Given the description of an element on the screen output the (x, y) to click on. 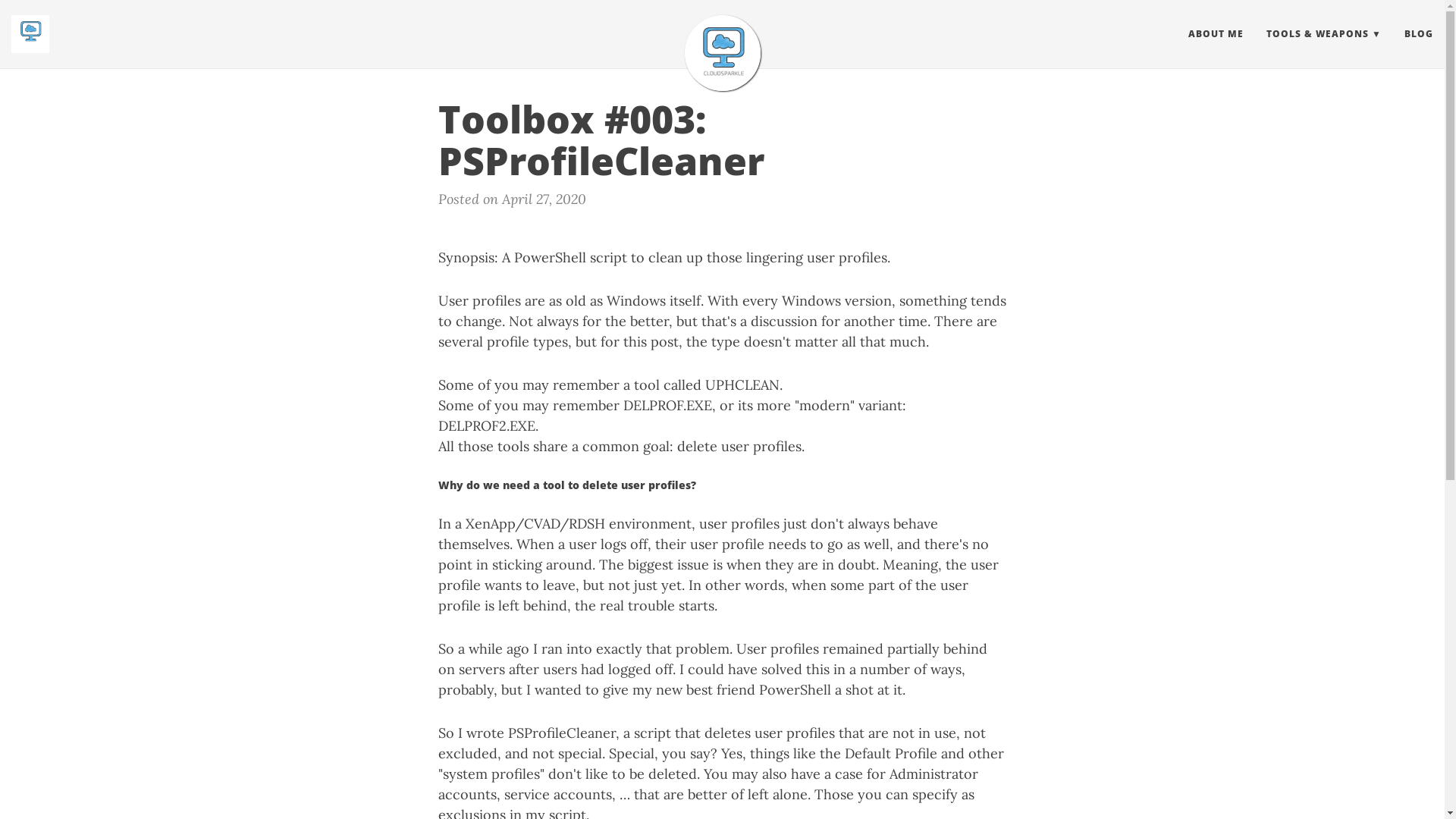
TOOLS & WEAPONS Element type: text (1324, 34)
ABOUT ME Element type: text (1215, 34)
BLOG Element type: text (1418, 34)
